Given the description of an element on the screen output the (x, y) to click on. 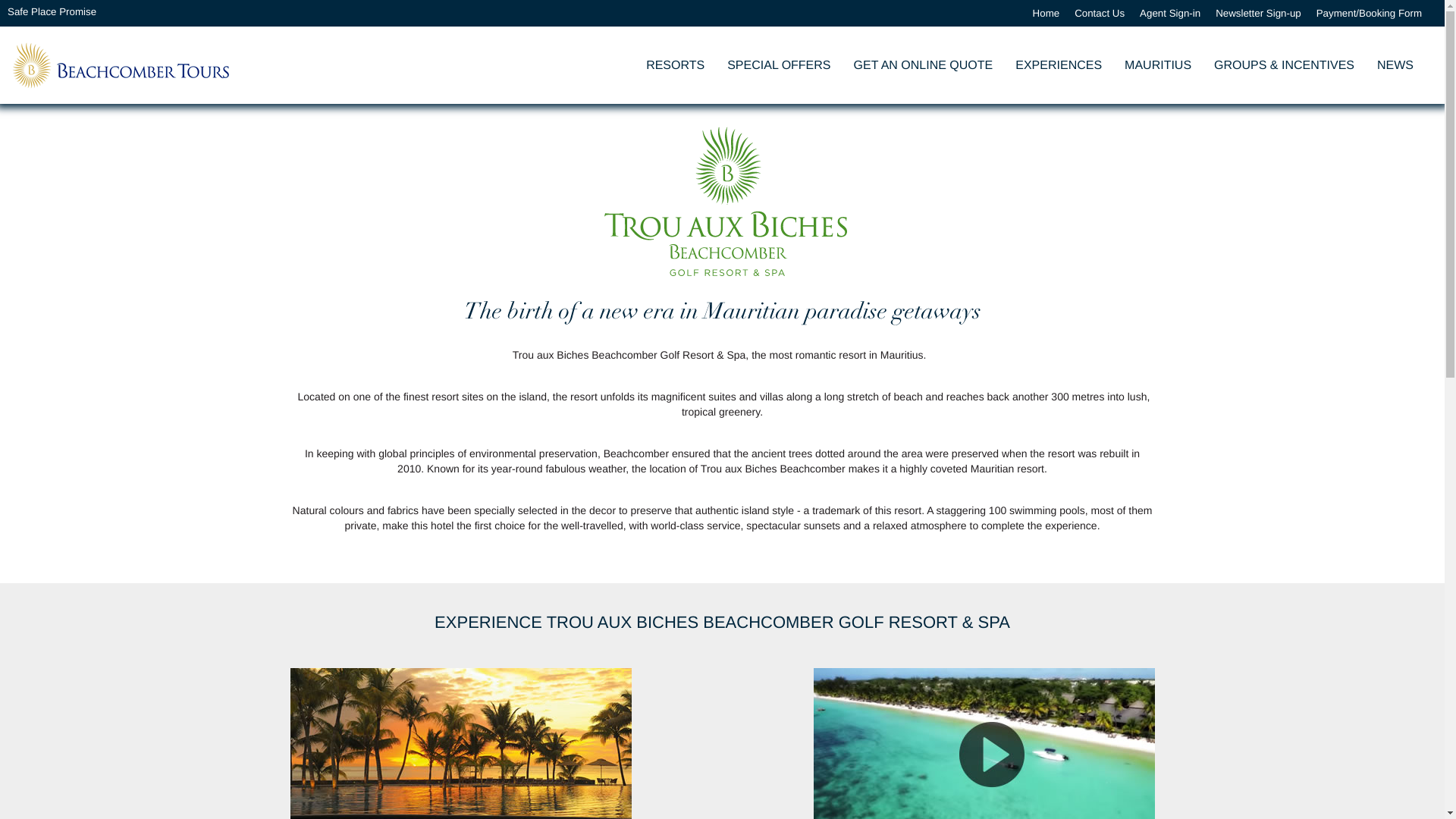
RESORTS (675, 65)
MAURITIUS (1157, 65)
Agent Sign-in (1169, 13)
Home (1045, 13)
SPECIAL OFFERS (778, 65)
Safe Place Promise (51, 13)
GET AN ONLINE QUOTE (923, 65)
Contact Us (1099, 13)
Newsletter Sign-up (1258, 13)
EXPERIENCES (1058, 65)
